Given the description of an element on the screen output the (x, y) to click on. 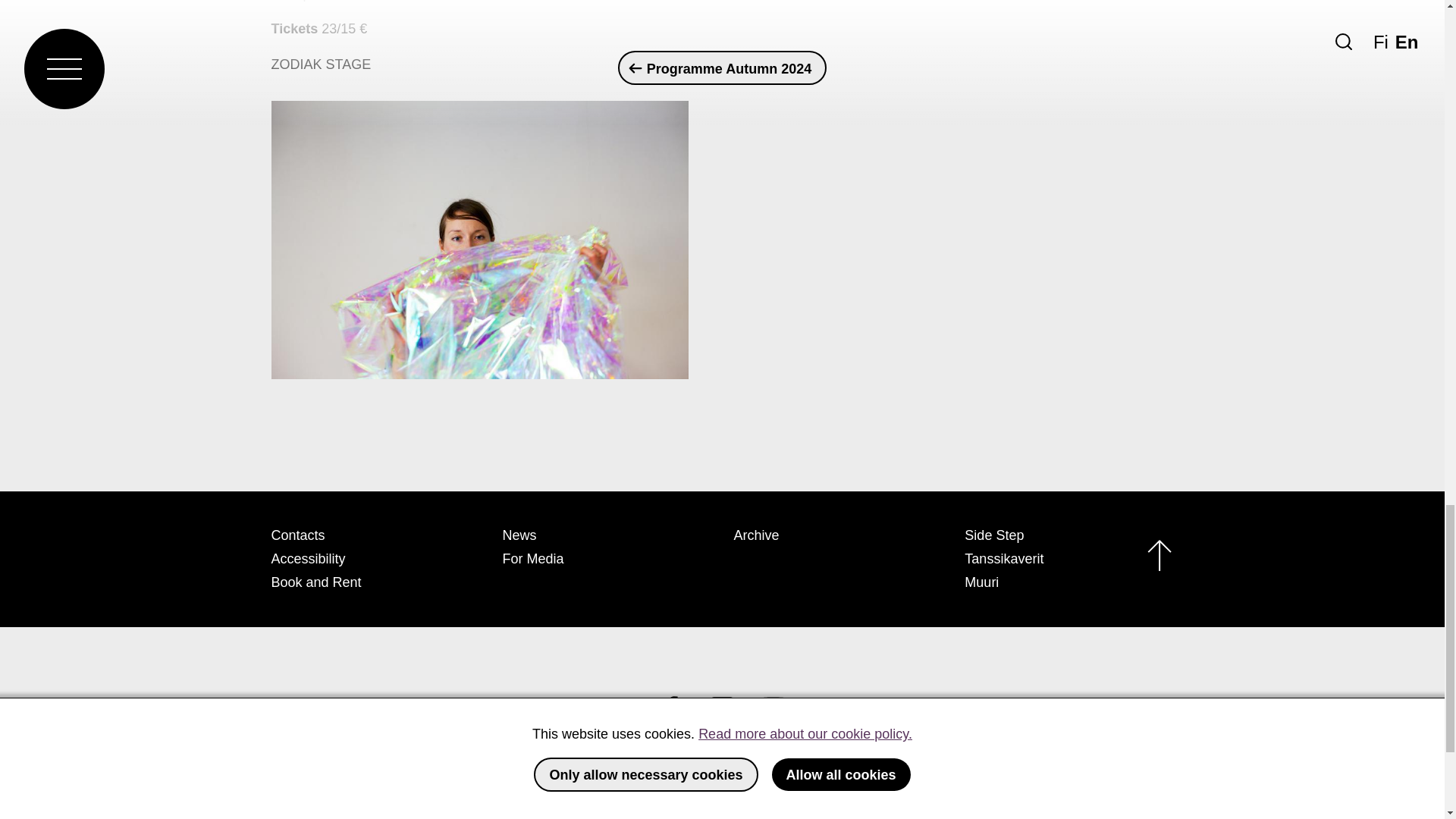
News (518, 534)
Facebook (671, 706)
Youtube (773, 706)
Instagram (722, 706)
For Media (532, 558)
Accessibility (308, 558)
Contacts (297, 534)
Back to top (1158, 558)
Book and Rent (315, 581)
